Given the description of an element on the screen output the (x, y) to click on. 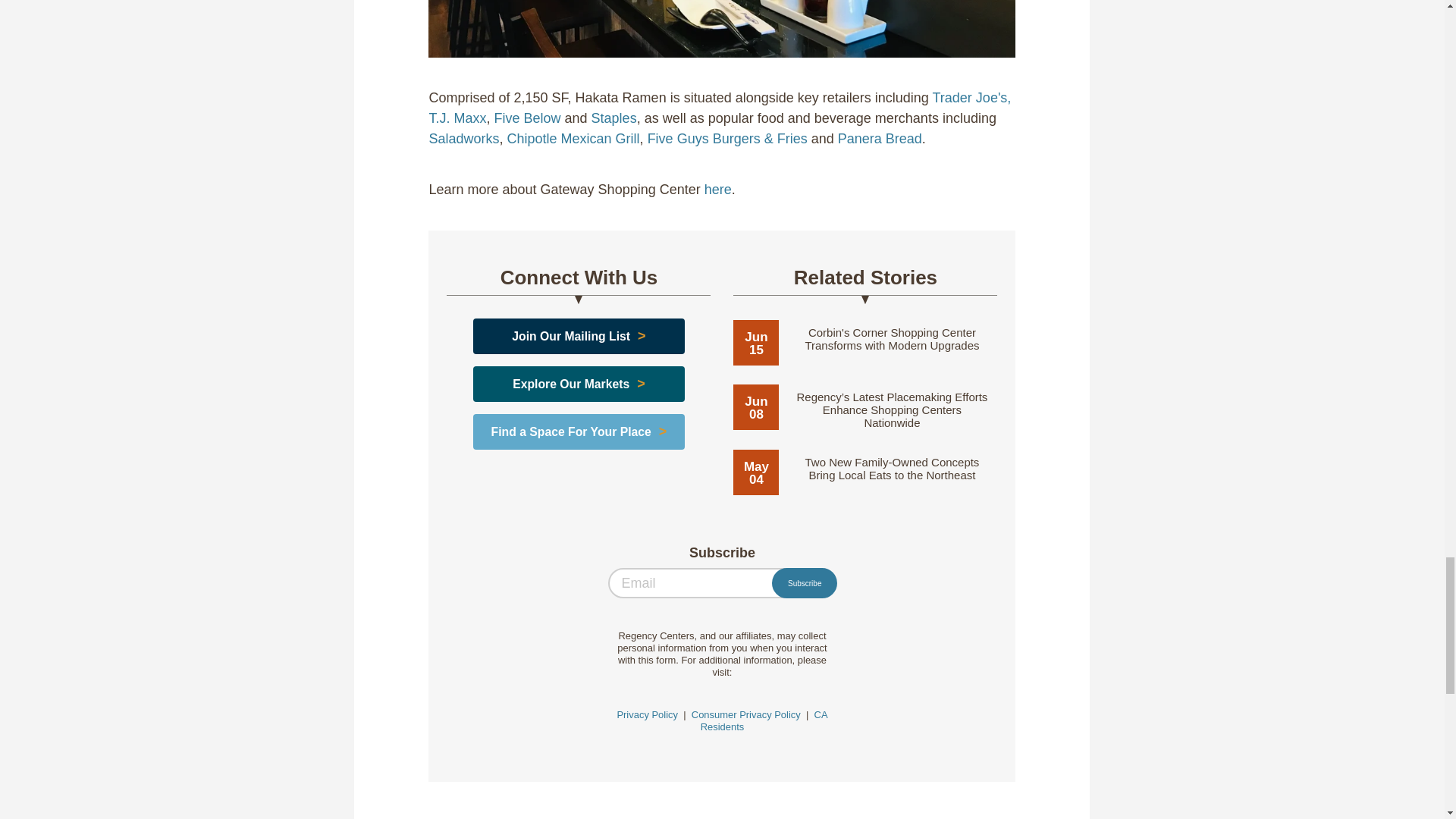
Subscribe (804, 583)
Chipotle Mexican Grill (573, 138)
Panera Bread (879, 138)
T.J. Maxx (457, 118)
Saladworks (463, 138)
Staples (614, 118)
here (718, 189)
Five Below (527, 118)
Join Our Mailing List (571, 336)
Trader Joe's, (972, 97)
